Given the description of an element on the screen output the (x, y) to click on. 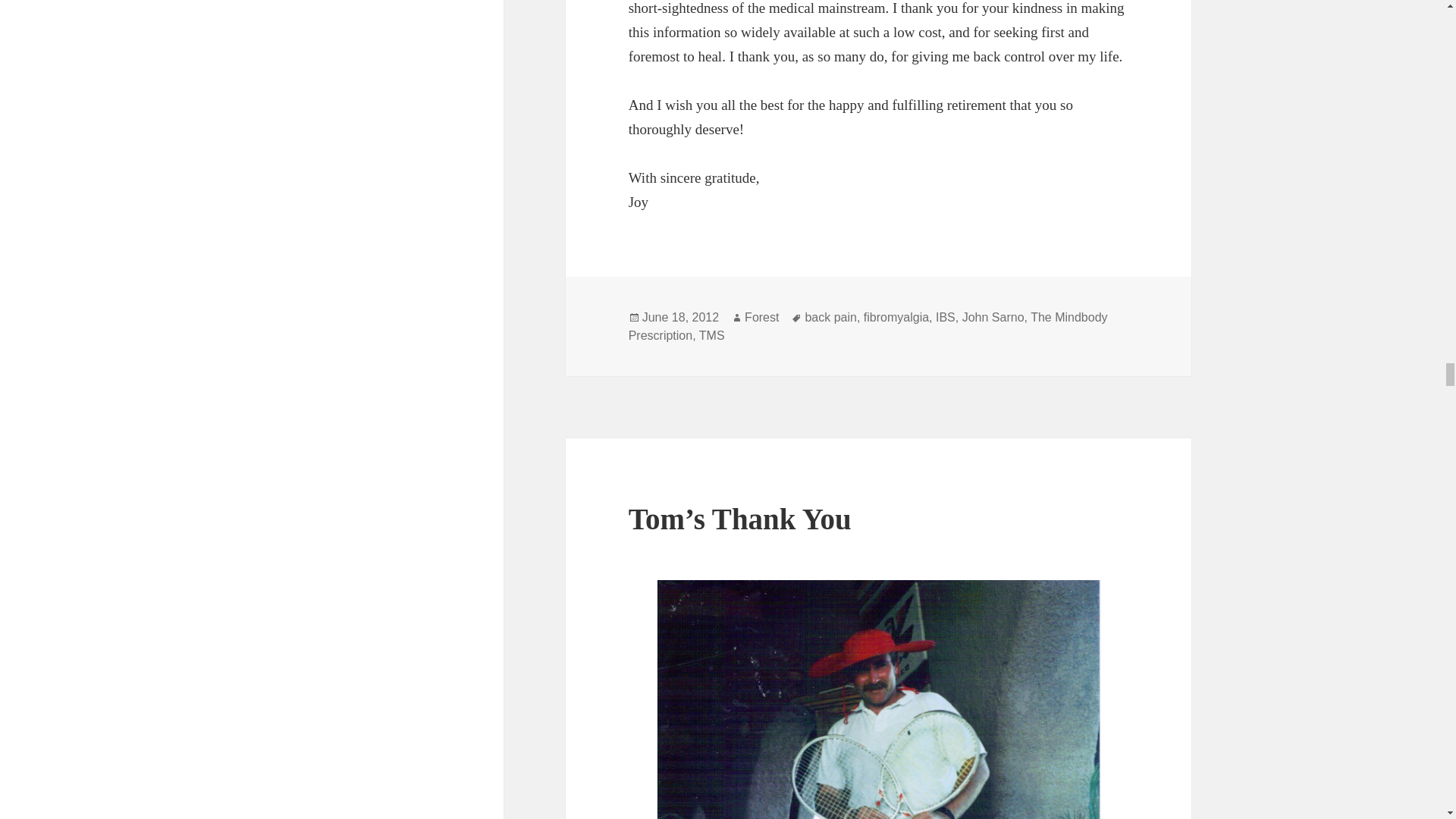
Tennis Tom's Picture (879, 699)
